Given the description of an element on the screen output the (x, y) to click on. 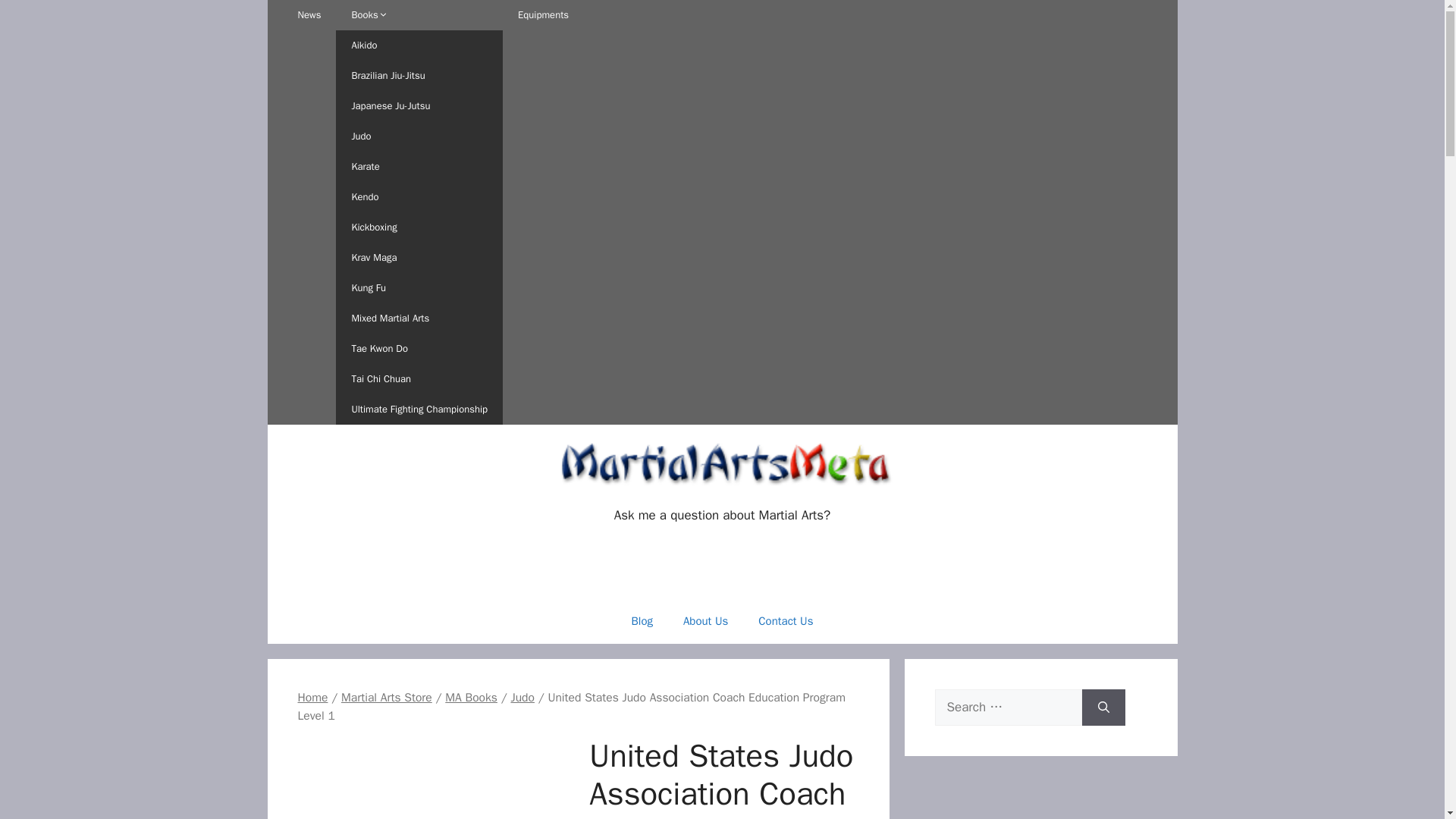
Japanese Ju-Jutsu (419, 105)
Brazilian Jiu-Jitsu (419, 75)
Kung Fu (419, 287)
Karate (419, 166)
Ultimate Fighting Championship (419, 409)
Kickboxing (419, 227)
Contact Us (785, 620)
Search for: (1007, 707)
Home (312, 697)
Martial Arts Store (386, 697)
Equipments (542, 15)
Tae Kwon Do (419, 348)
Krav Maga (419, 257)
Judo (419, 136)
Books (419, 15)
